Given the description of an element on the screen output the (x, y) to click on. 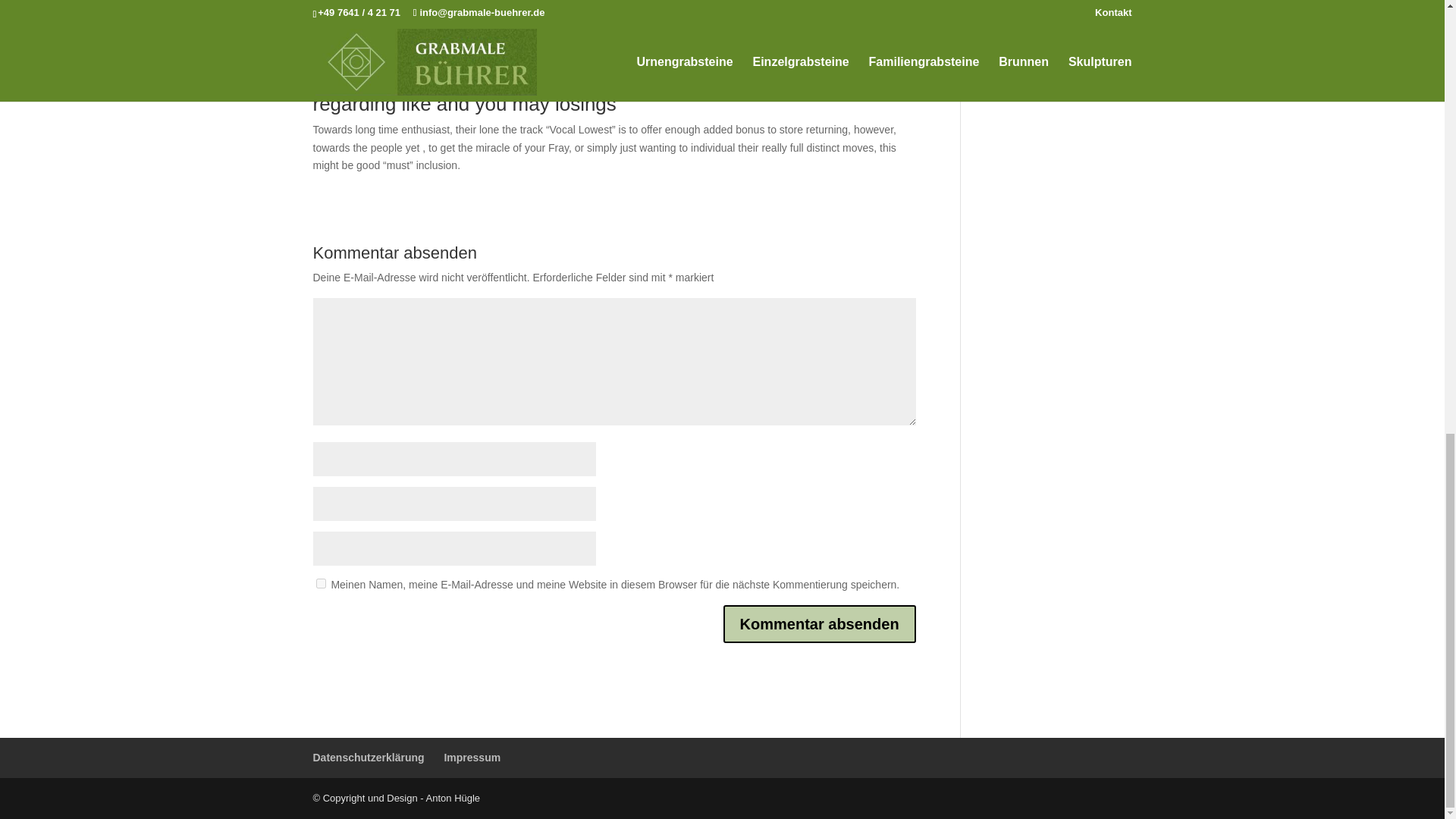
Kommentar absenden (819, 623)
yes (319, 583)
Impressum (472, 757)
Kommentar absenden (819, 623)
